Given the description of an element on the screen output the (x, y) to click on. 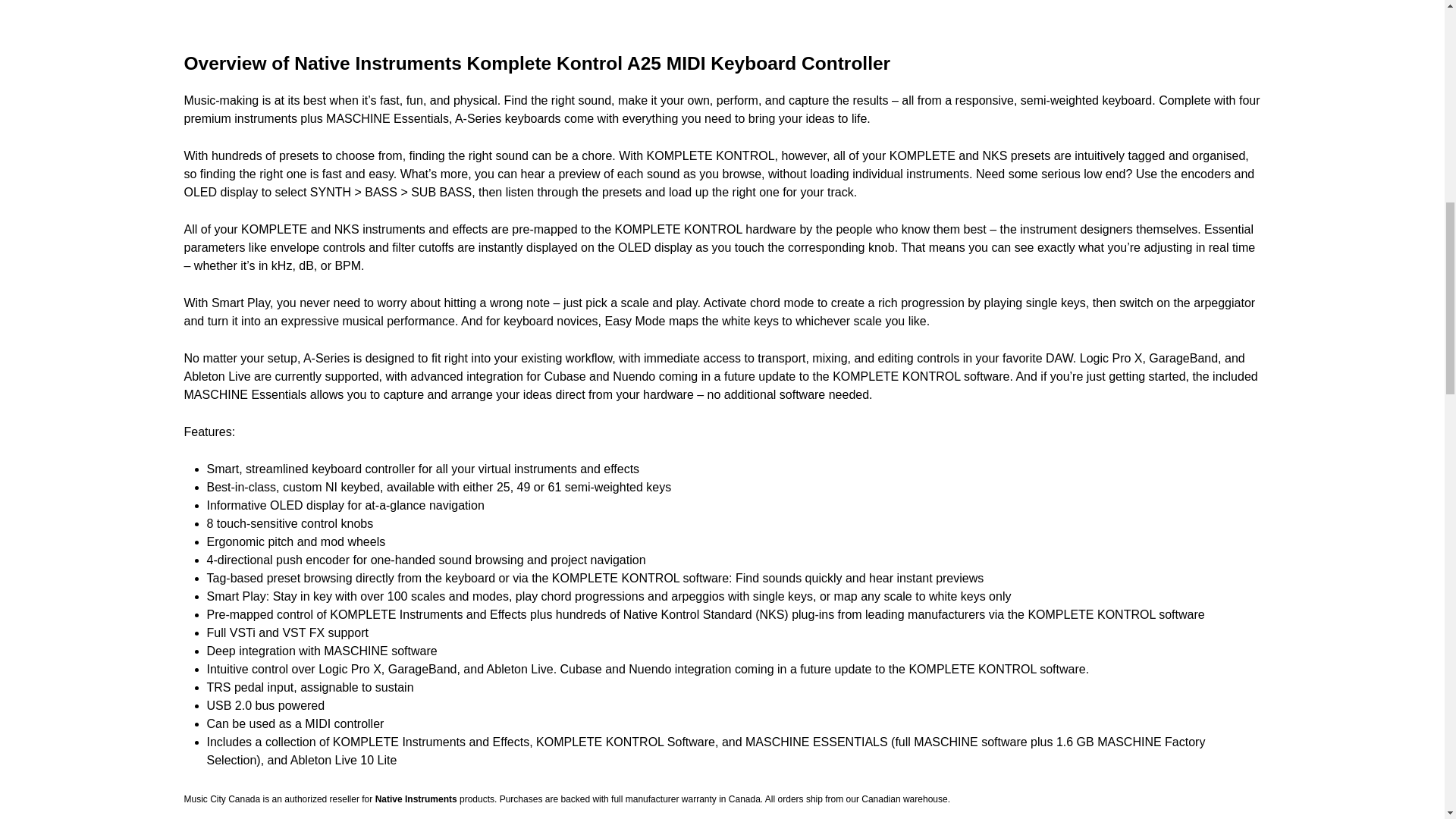
Native Instruments (416, 798)
